Given the description of an element on the screen output the (x, y) to click on. 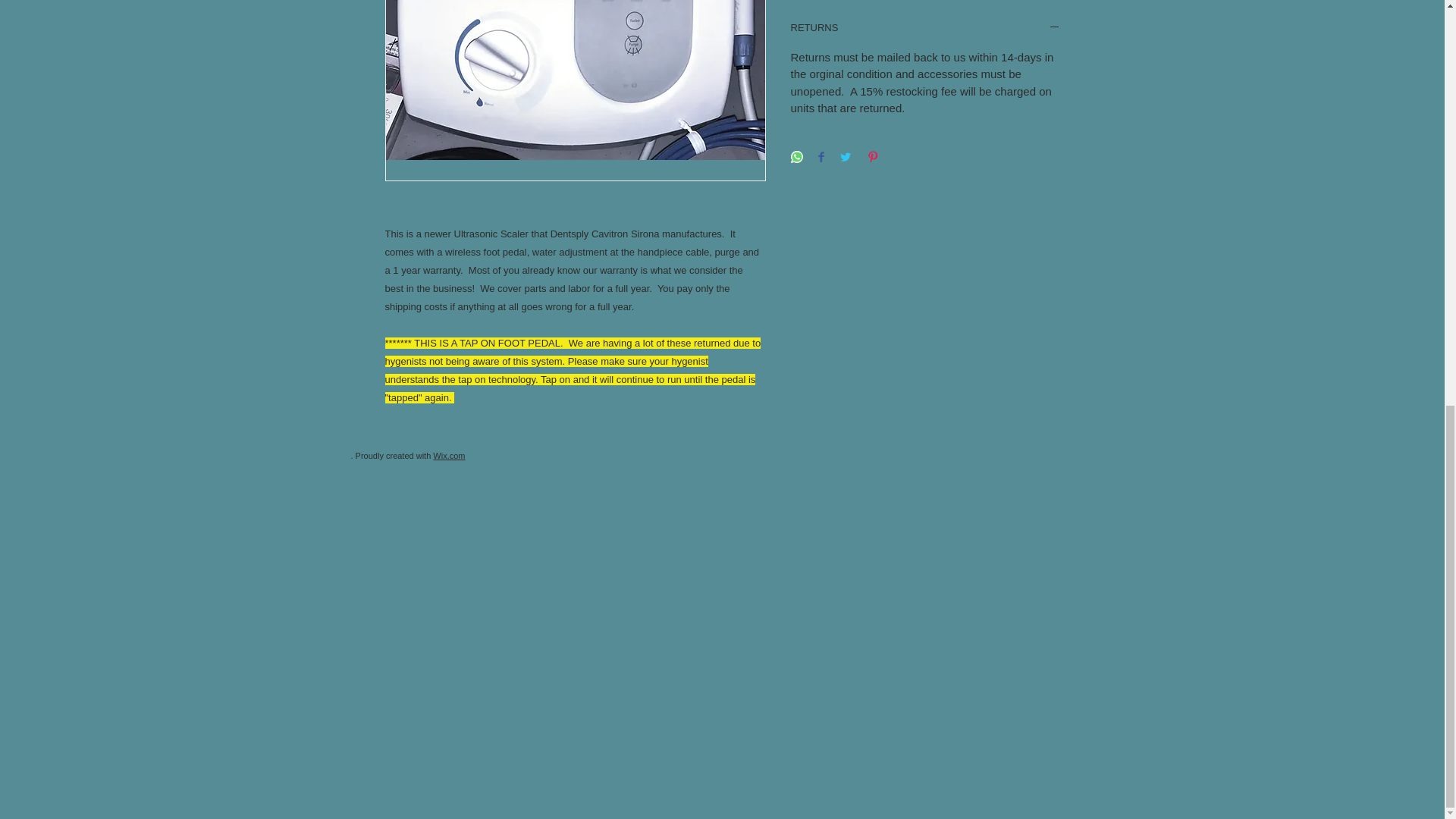
RETURNS (924, 28)
Wix.com (448, 455)
